Given the description of an element on the screen output the (x, y) to click on. 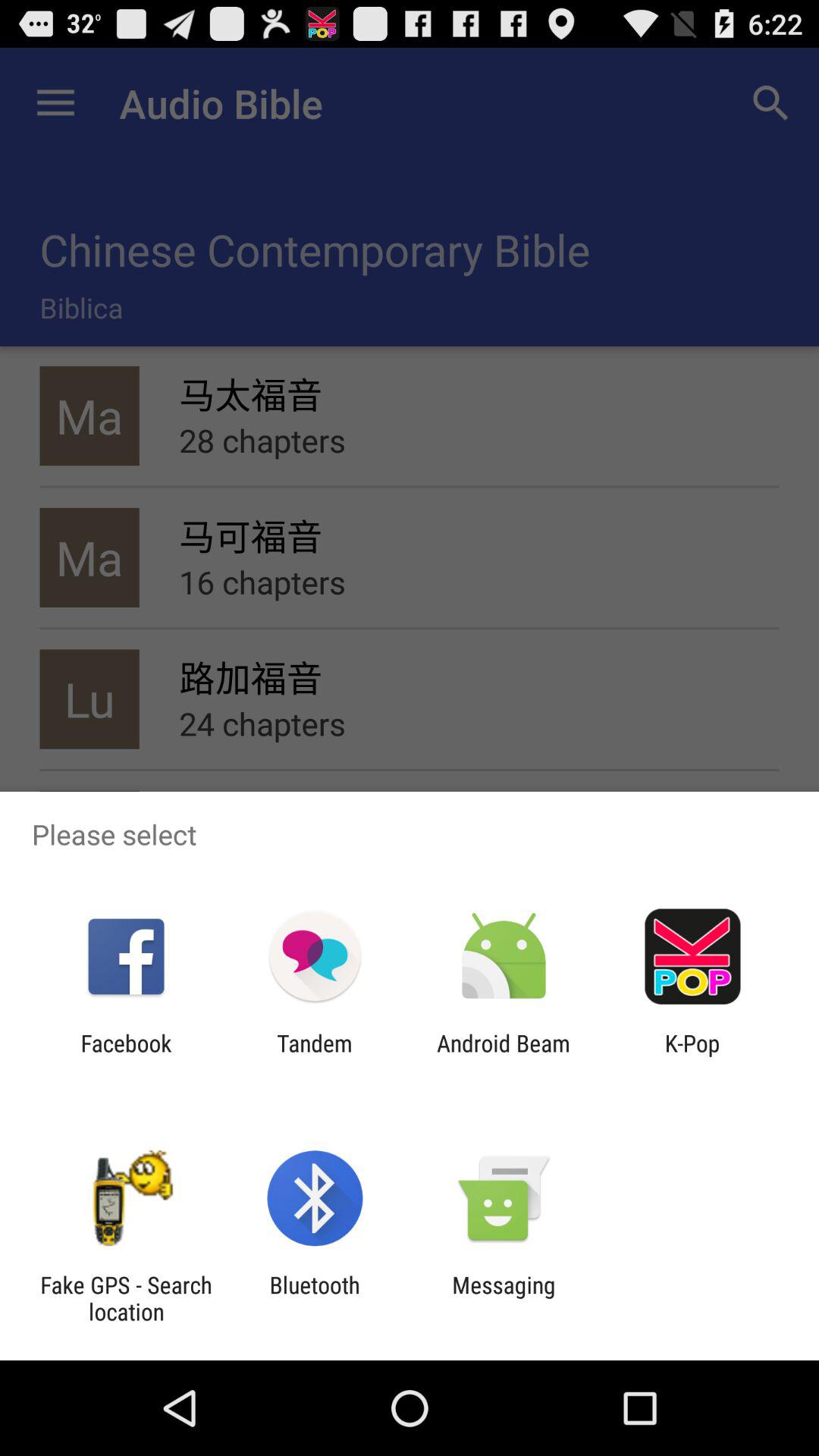
flip to the facebook (125, 1056)
